Given the description of an element on the screen output the (x, y) to click on. 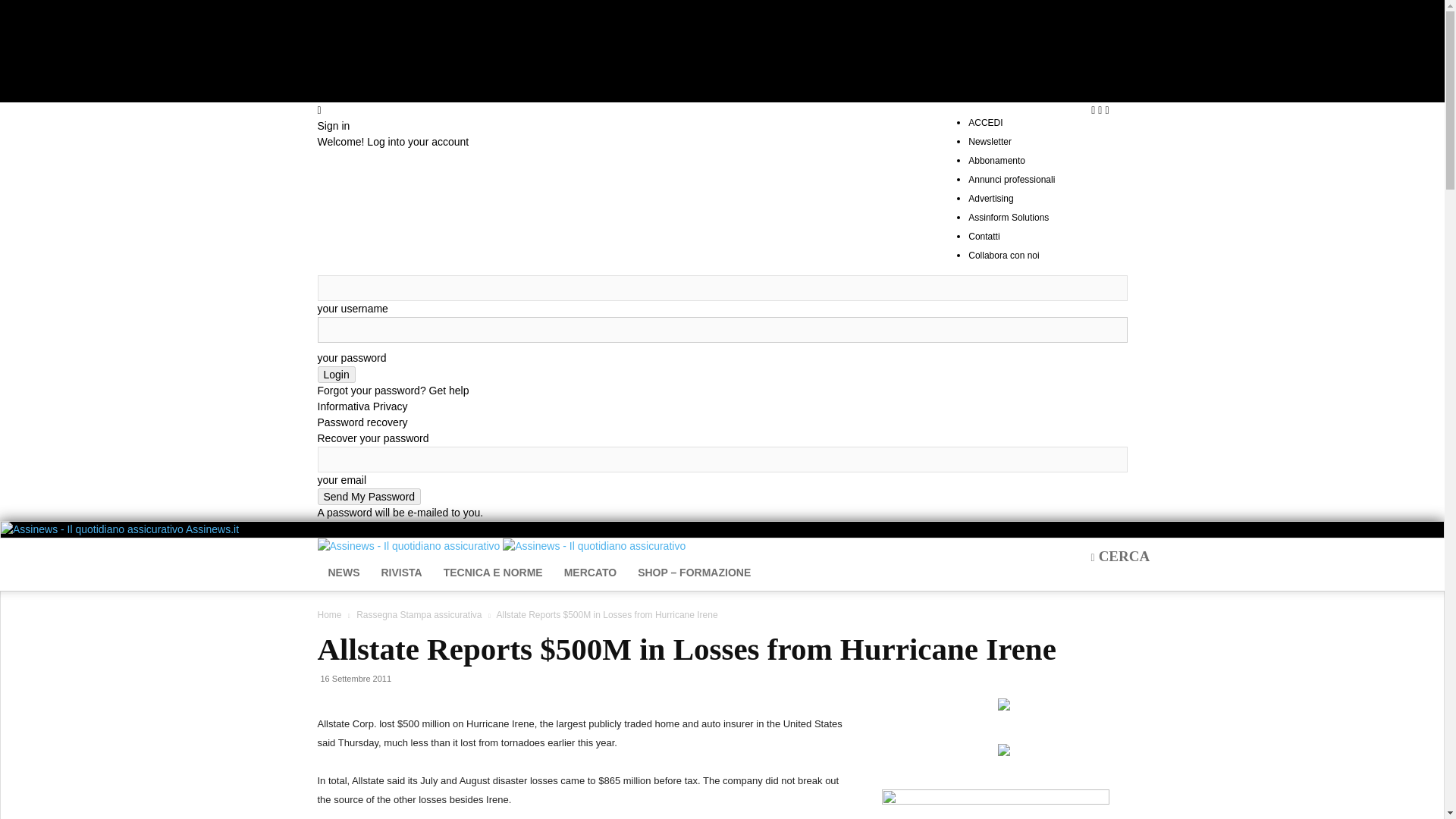
ACCEDI (985, 122)
View all posts in Rassegna Stampa assicurativa (418, 614)
Facebook (1093, 110)
Twitter (1106, 110)
Assinews - Il quotidiano assicurativo (593, 546)
Login (336, 374)
Assinews - Il quotidiano assicurativo (92, 529)
Linkedin (1101, 110)
Send My Password (368, 496)
Assinews - Il quotidiano assicurativo (408, 546)
